Given the description of an element on the screen output the (x, y) to click on. 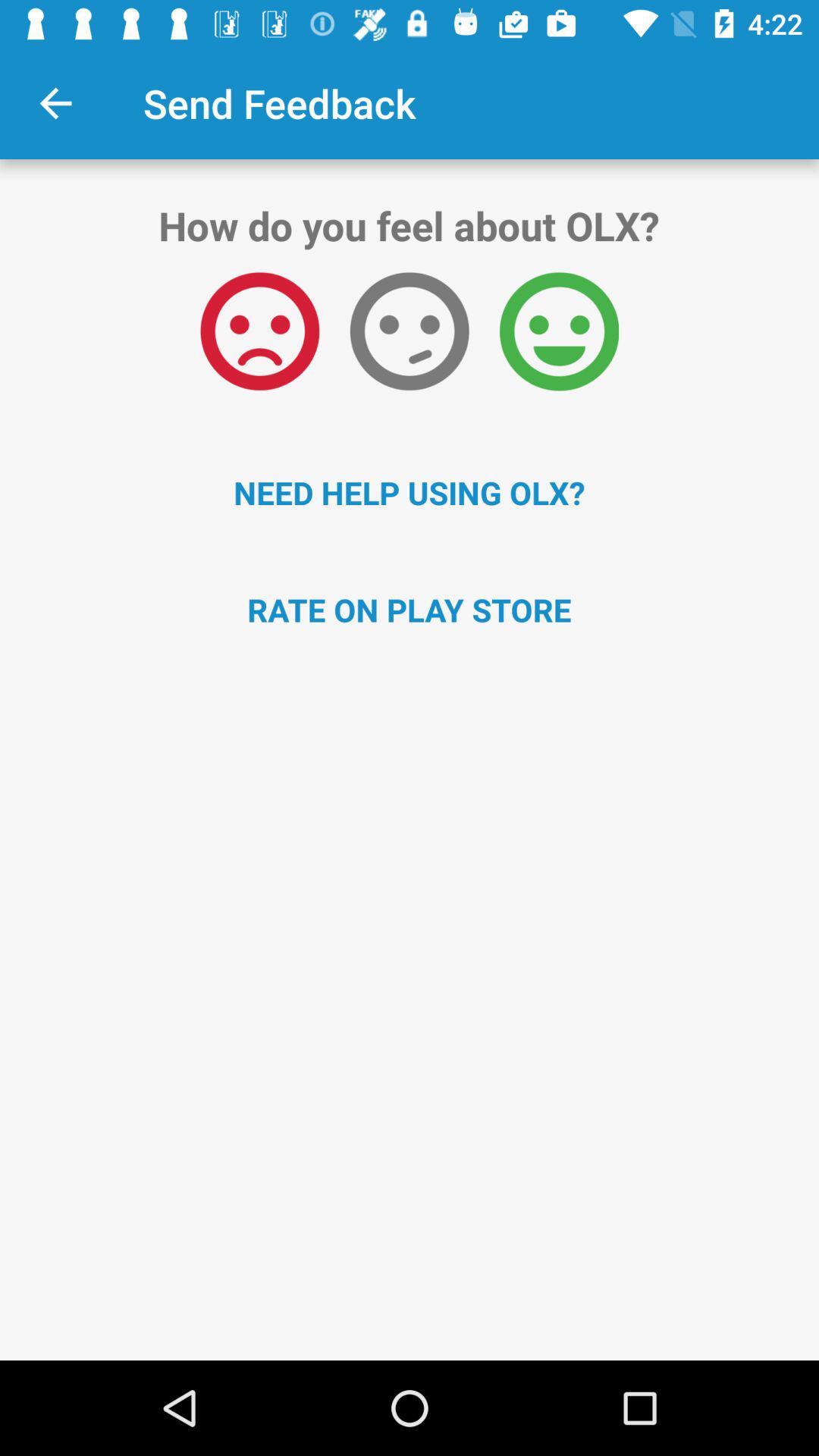
tap icon below the how do you item (409, 331)
